Given the description of an element on the screen output the (x, y) to click on. 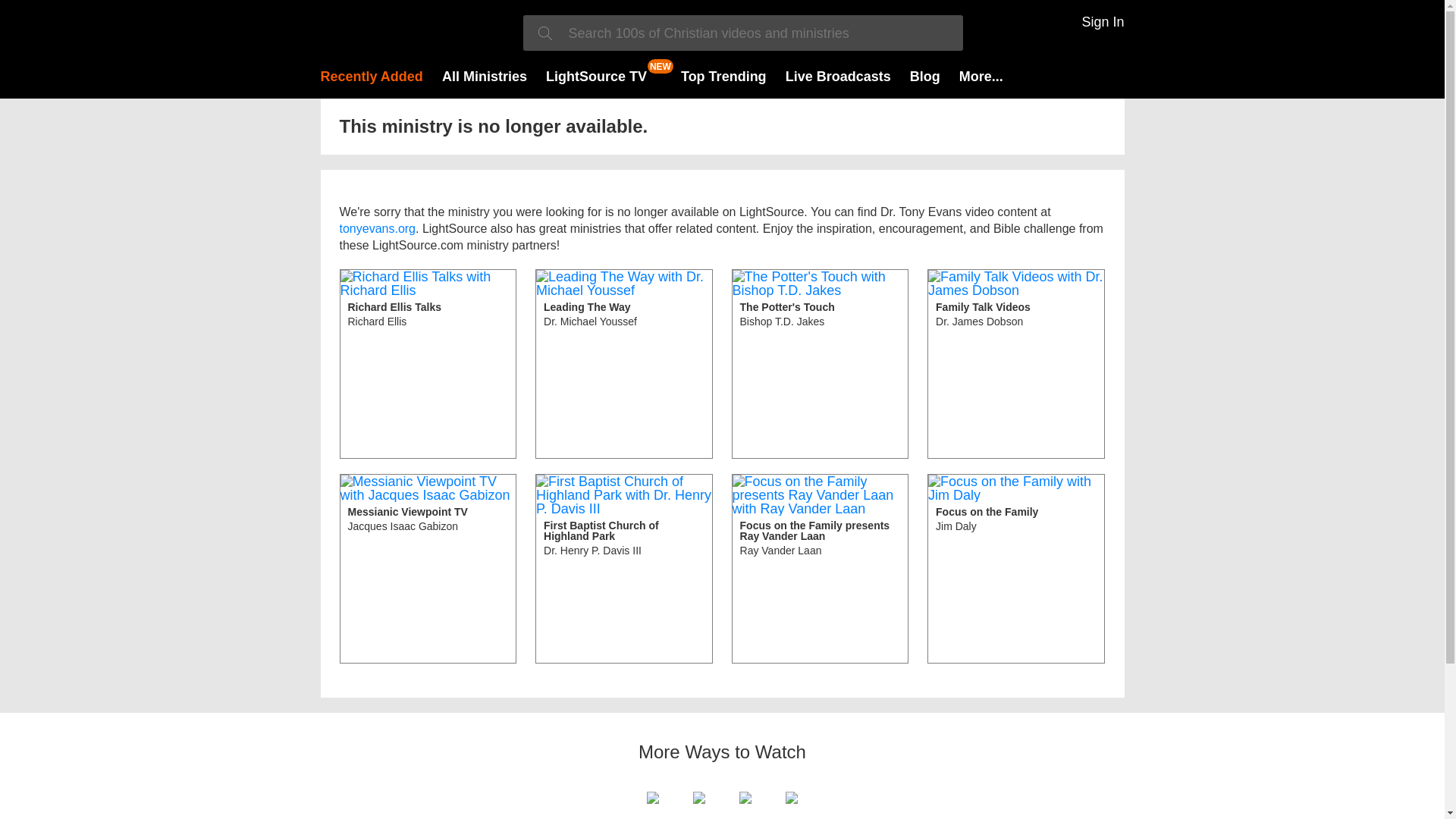
Recently Added (371, 76)
Blog (925, 76)
Live Broadcasts (838, 76)
All Ministries (484, 76)
LightSource TV (624, 568)
tonyevans.org (427, 568)
More... (596, 76)
